Given the description of an element on the screen output the (x, y) to click on. 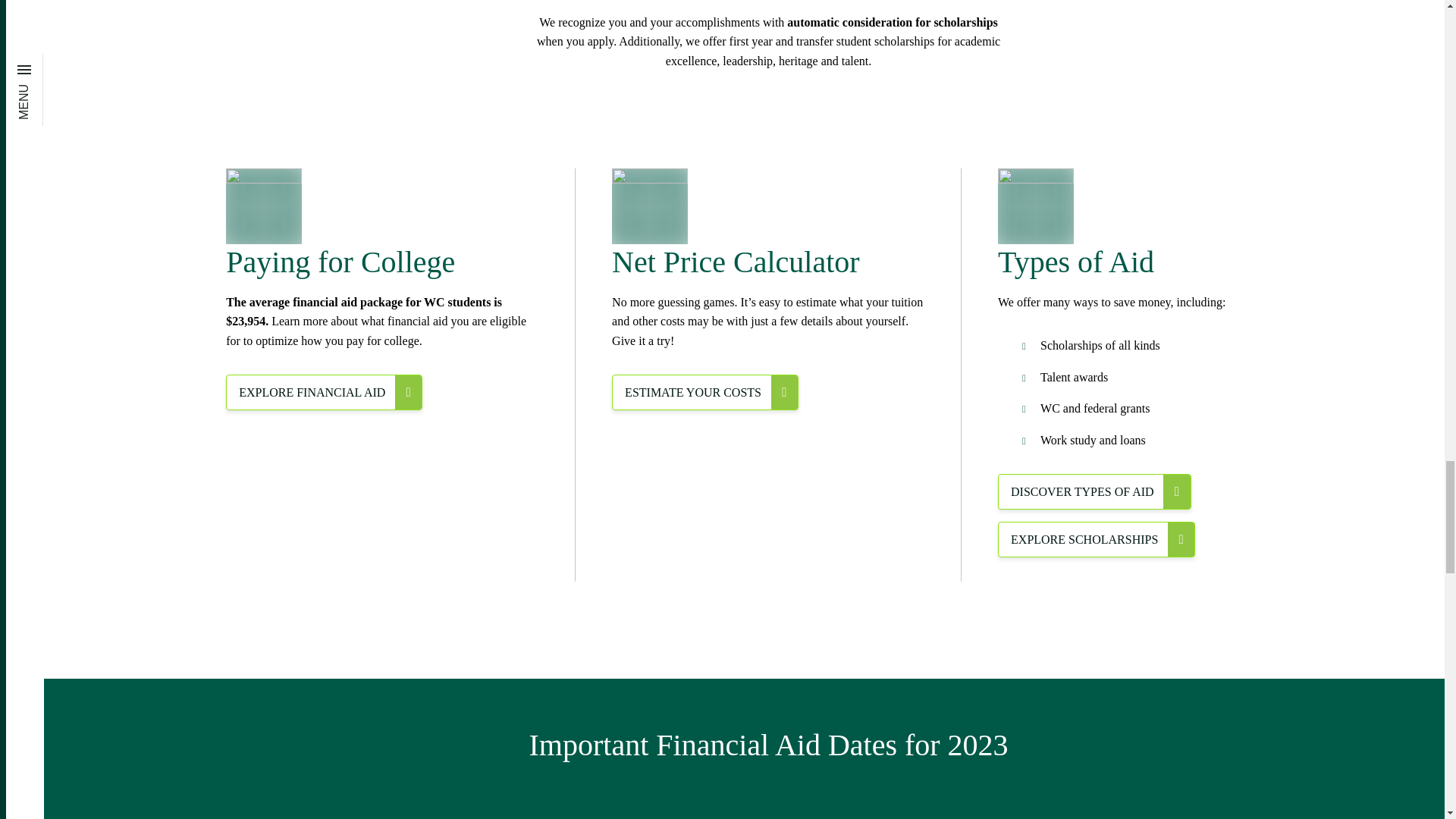
EXPLORE FINANCIAL AID (323, 392)
EXPLORE SCHOLARSHIPS (1096, 539)
DISCOVER TYPES OF AID (1094, 491)
ESTIMATE YOUR COSTS (704, 392)
